Given the description of an element on the screen output the (x, y) to click on. 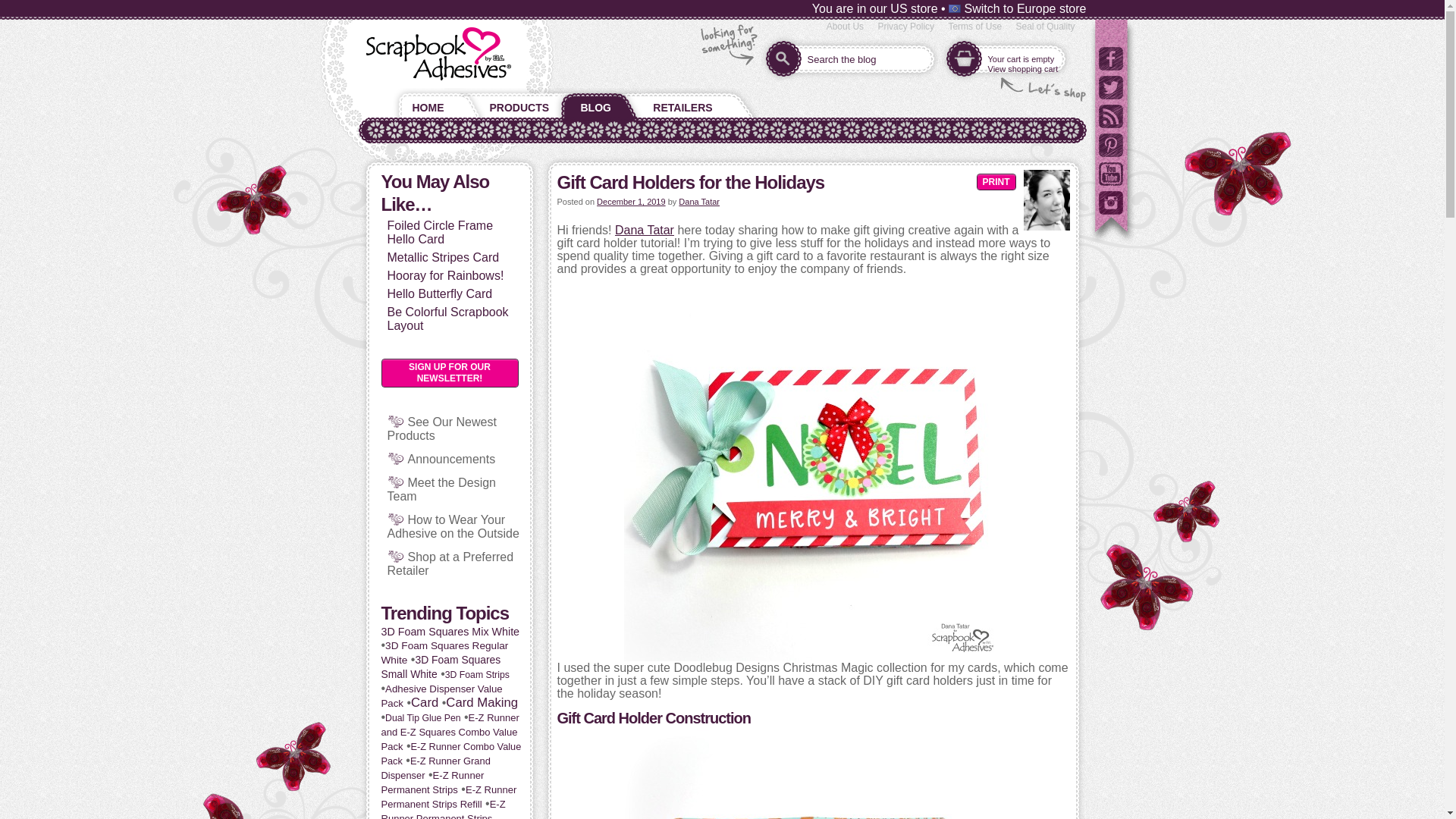
Be Colorful Scrapbook Layout (447, 318)
3D Foam Squares Mix White (449, 631)
HOME (425, 104)
Announcements (451, 459)
3D Foam Squares Regular White (444, 652)
PRODUCTS (518, 104)
21 topics (477, 674)
Foiled Circle Frame Hello Card (440, 232)
Hello Butterfly Card (439, 293)
Hooray for Rainbows! (445, 275)
Privacy Policy (905, 26)
How to Wear Your Adhesive on the Outside (452, 526)
27 topics (442, 808)
Switch to Europe store (1017, 8)
Shop at a Preferred Retailer (450, 563)
